Given the description of an element on the screen output the (x, y) to click on. 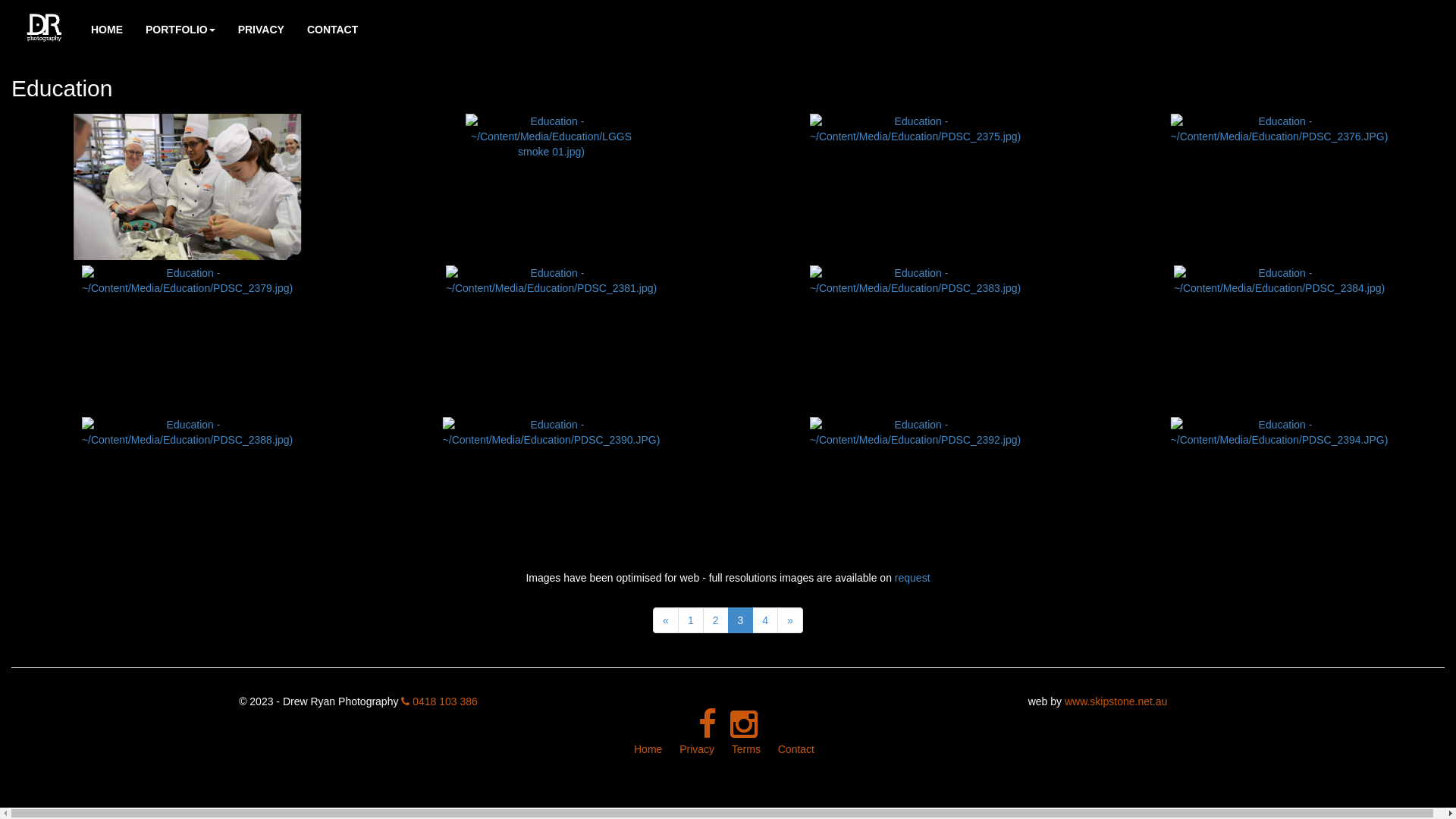
PRIVACY Element type: text (260, 29)
Privacy Element type: text (696, 749)
PORTFOLIO Element type: text (180, 29)
2 Element type: text (715, 620)
Home Element type: text (647, 749)
3 Element type: text (740, 620)
4 Element type: text (765, 620)
request Element type: text (912, 577)
HOME Element type: text (106, 29)
CONTACT Element type: text (332, 29)
1 Element type: text (690, 620)
0418 103 386 Element type: text (439, 701)
www.skipstone.net.au Element type: text (1115, 701)
Terms Element type: text (745, 749)
Contact Element type: text (796, 749)
